Given the description of an element on the screen output the (x, y) to click on. 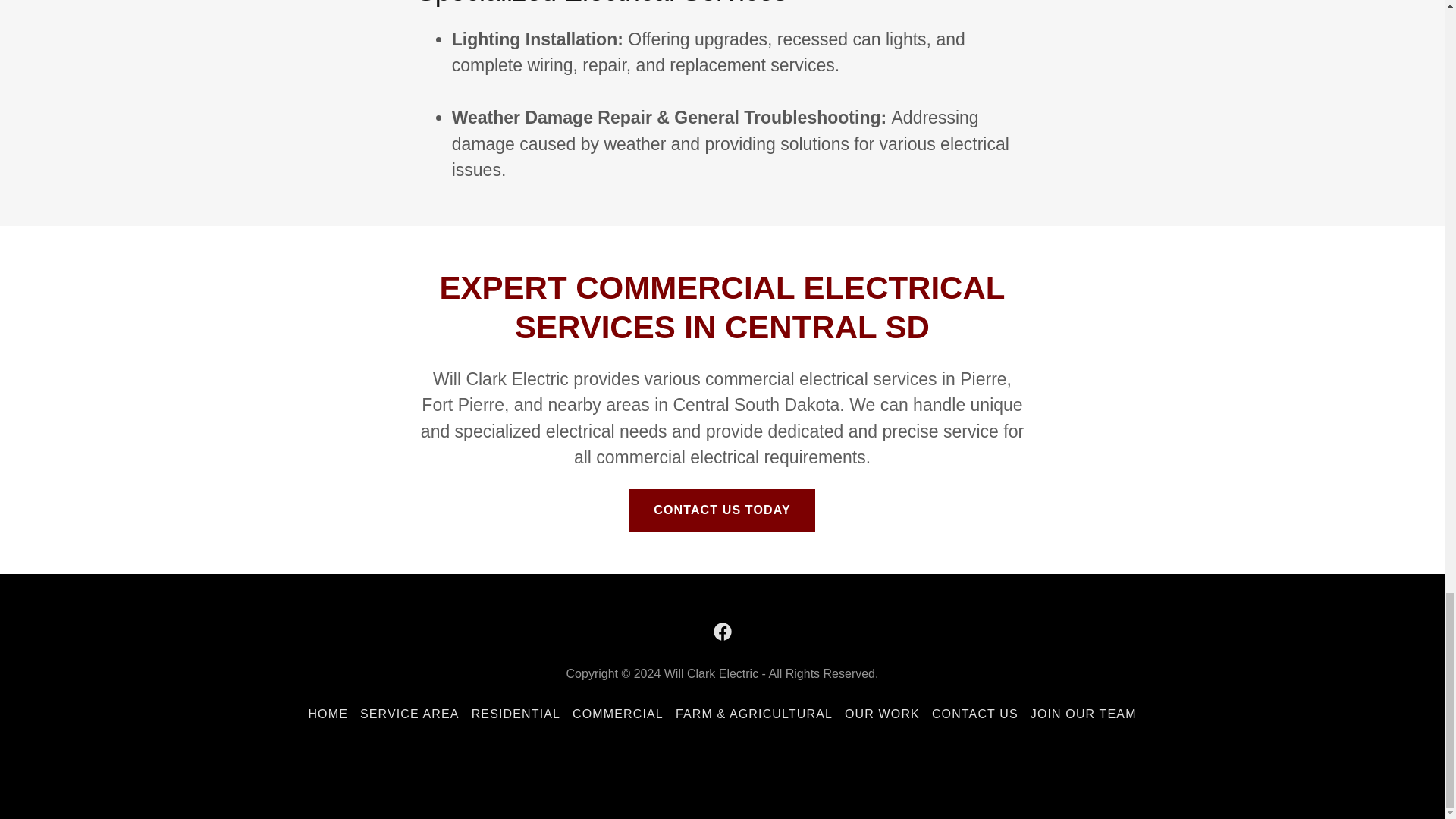
CONTACT US TODAY (721, 509)
SERVICE AREA (409, 714)
RESIDENTIAL (515, 714)
HOME (327, 714)
